Given the description of an element on the screen output the (x, y) to click on. 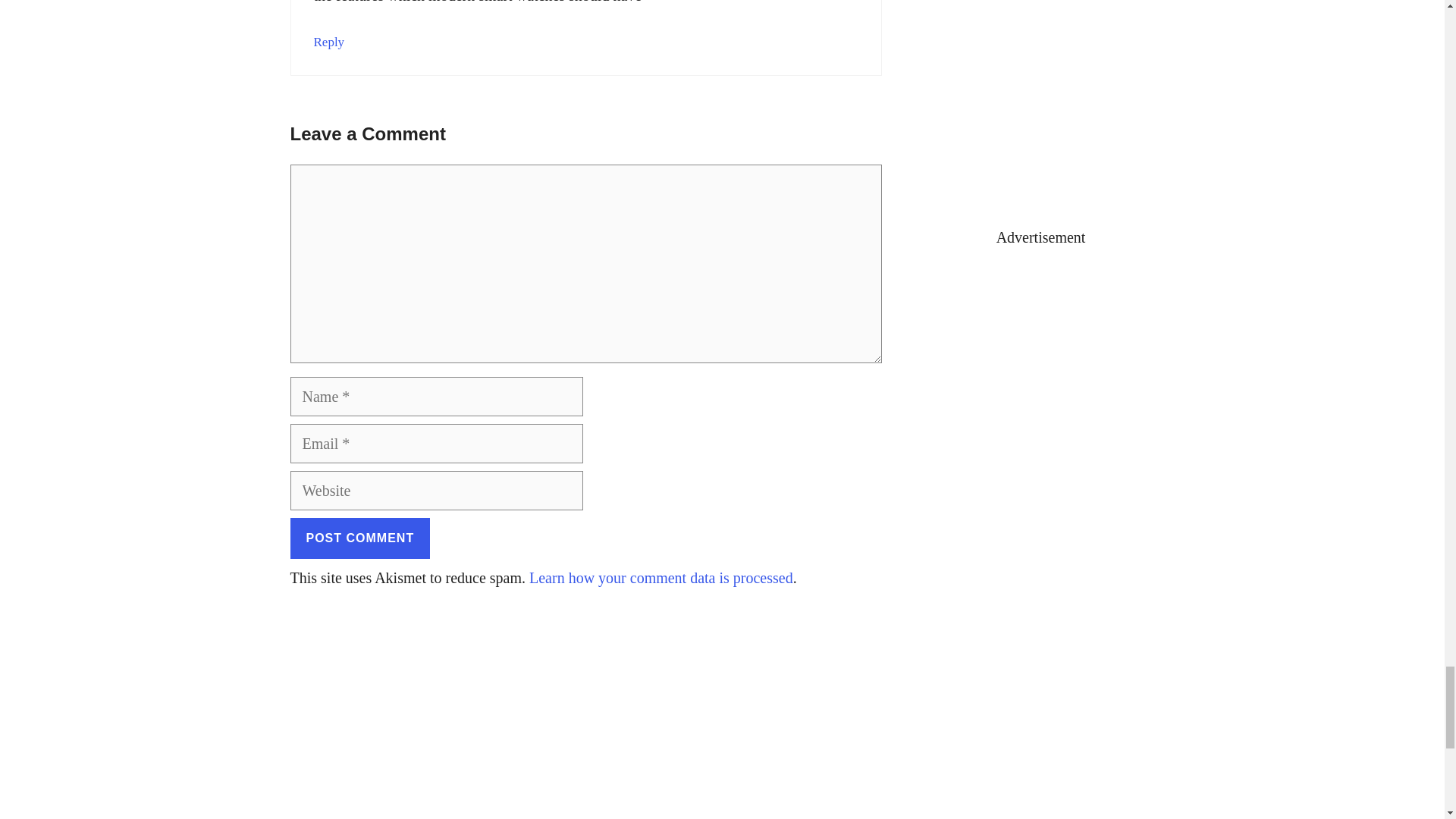
Post Comment (359, 536)
